Given the description of an element on the screen output the (x, y) to click on. 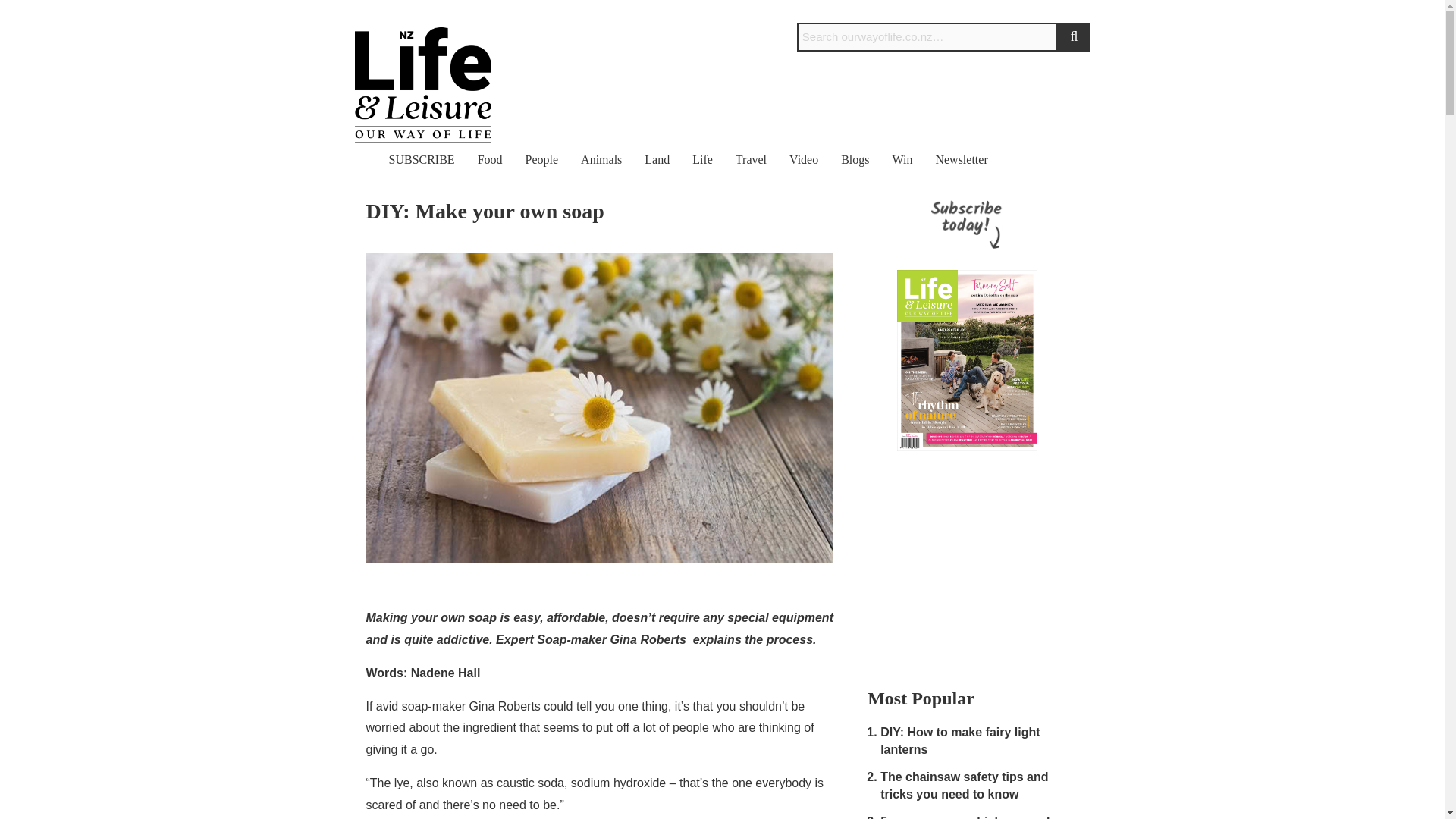
Newsletter (960, 159)
Land (657, 159)
5 reasons your chicken may be limping (969, 816)
Food (489, 159)
SUBSCRIBE (421, 159)
Life (703, 159)
Travel (751, 159)
Search for: (927, 36)
3rd party ad content (967, 566)
Subscribe (1061, 10)
